Given the description of an element on the screen output the (x, y) to click on. 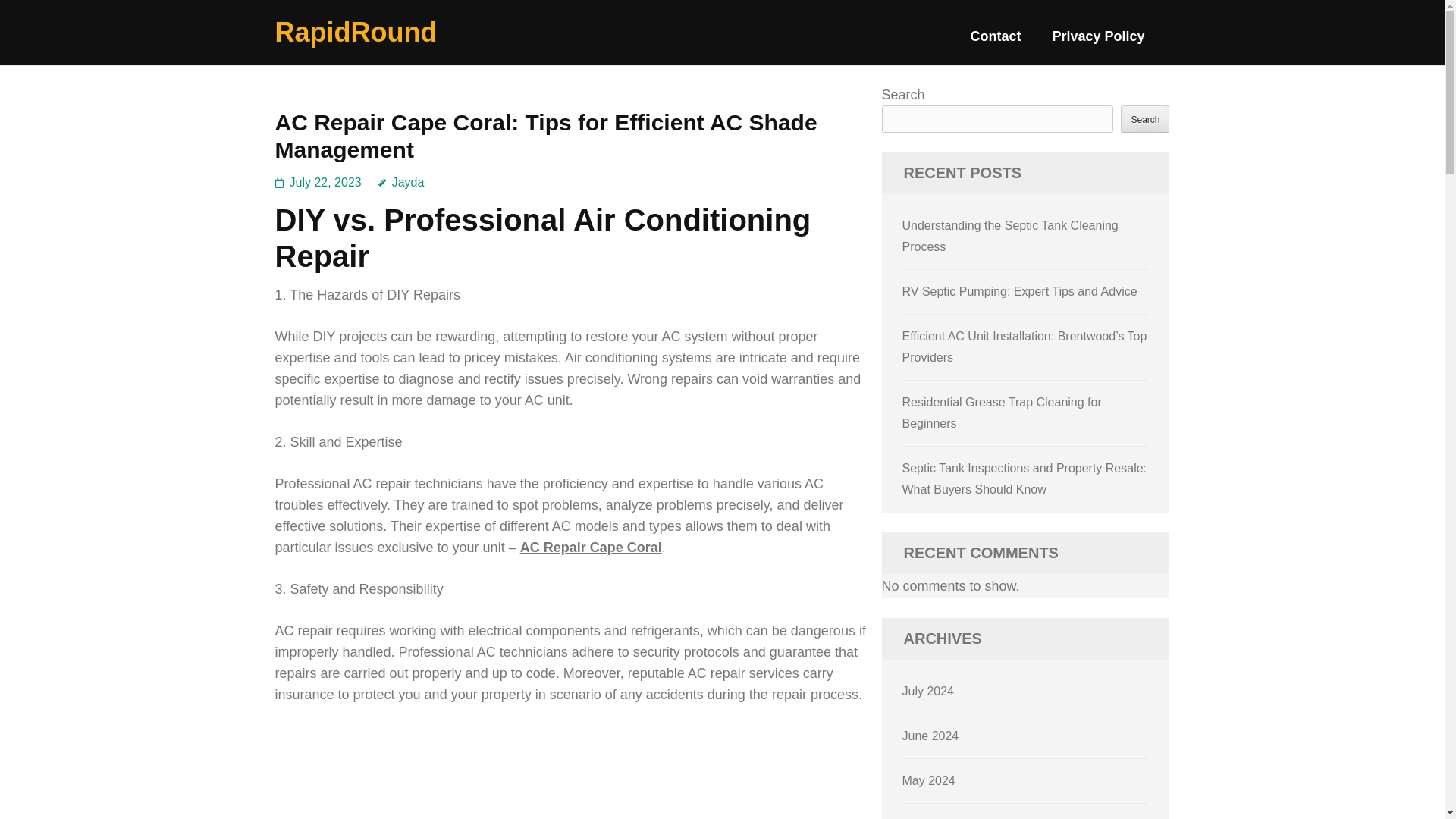
AC Repair Cape Coral (590, 547)
RapidRound (355, 31)
Understanding the Septic Tank Cleaning Process (1010, 236)
Residential Grease Trap Cleaning for Beginners (1002, 412)
RV Septic Pumping: Expert Tips and Advice (1019, 291)
June 2024 (930, 735)
July 2024 (928, 690)
July 22, 2023 (325, 182)
Contact (994, 42)
Privacy Policy (1097, 42)
Jayda (401, 182)
May 2024 (928, 780)
Search (1145, 118)
